Given the description of an element on the screen output the (x, y) to click on. 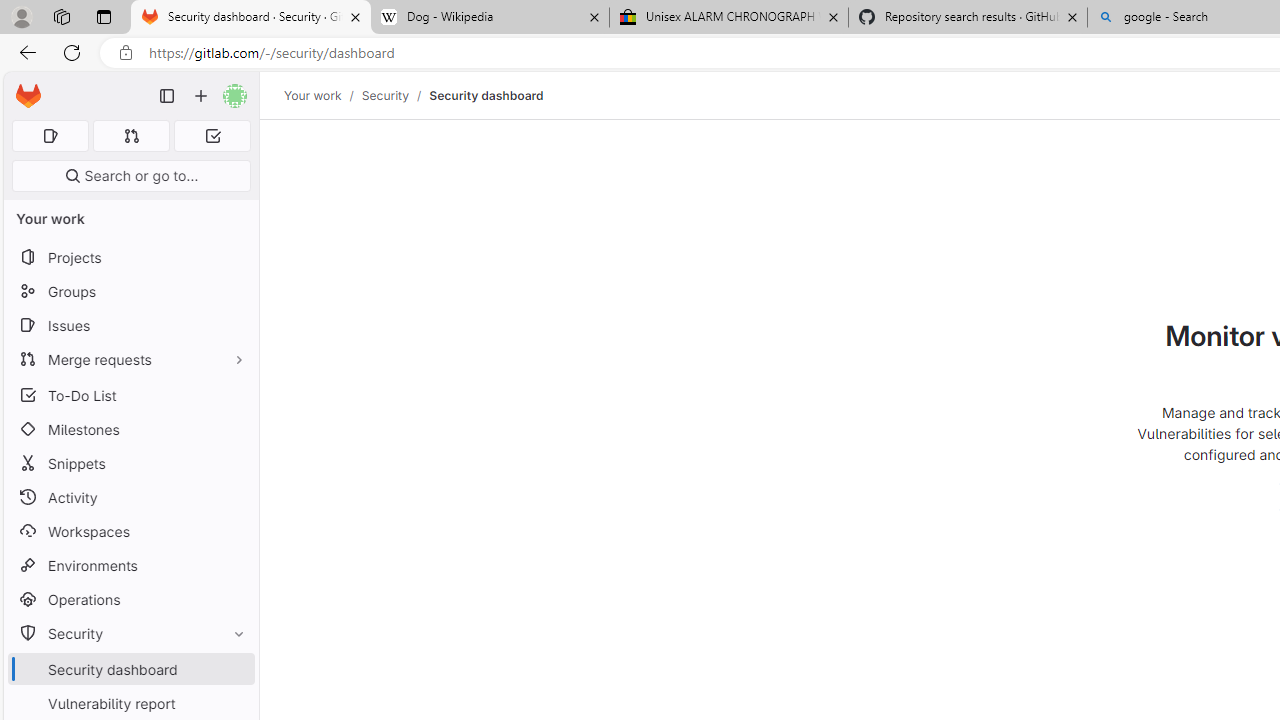
Merge requests (130, 358)
Milestones (130, 429)
Snippets (130, 463)
Environments (130, 564)
View site information (125, 53)
Dog - Wikipedia (490, 17)
Vulnerability report (130, 703)
Workspaces (130, 530)
Activity (130, 497)
Activity (130, 497)
Your work (312, 95)
Projects (130, 257)
